Given the description of an element on the screen output the (x, y) to click on. 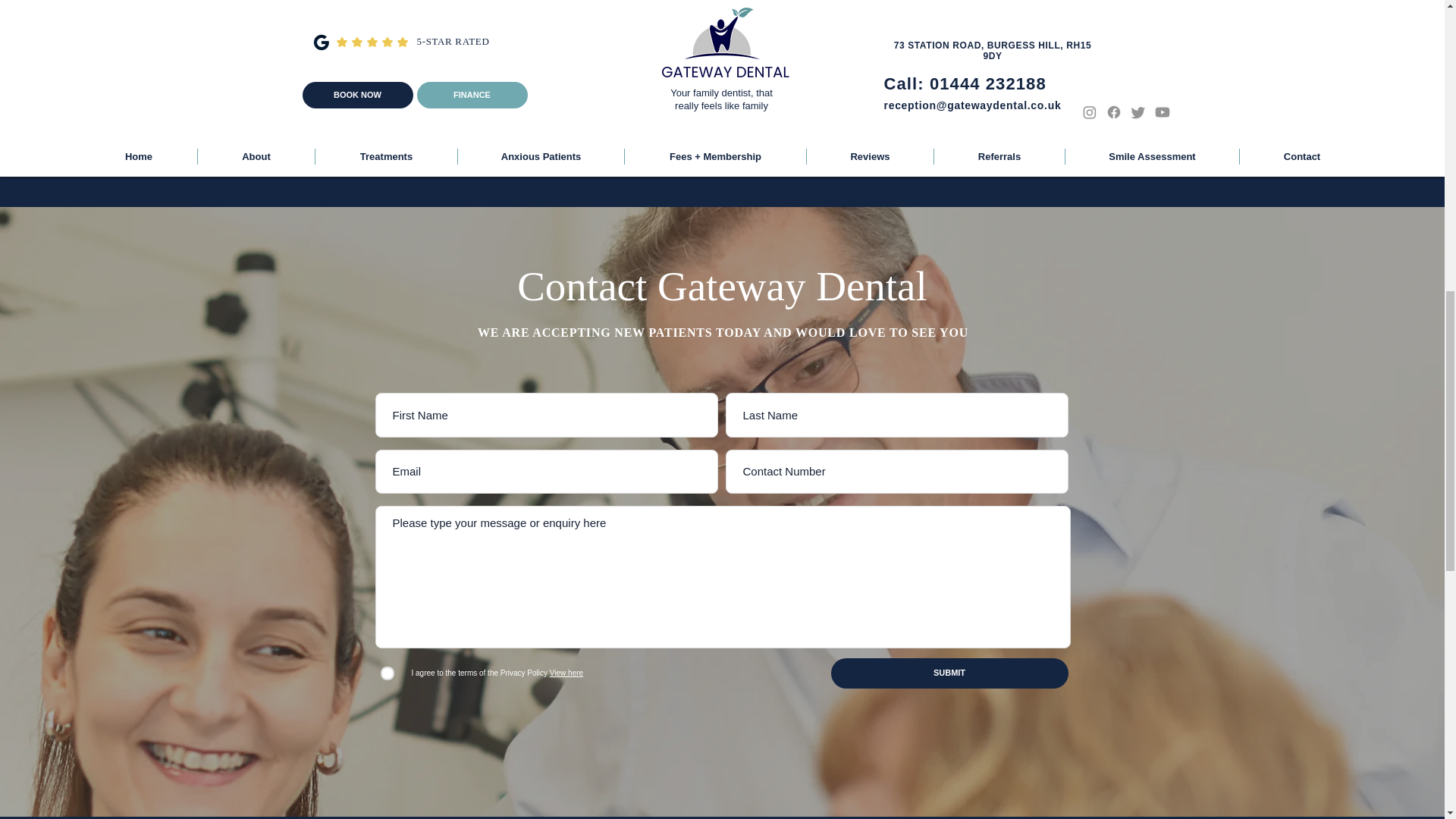
SUBMIT (949, 673)
View here (565, 673)
